Given the description of an element on the screen output the (x, y) to click on. 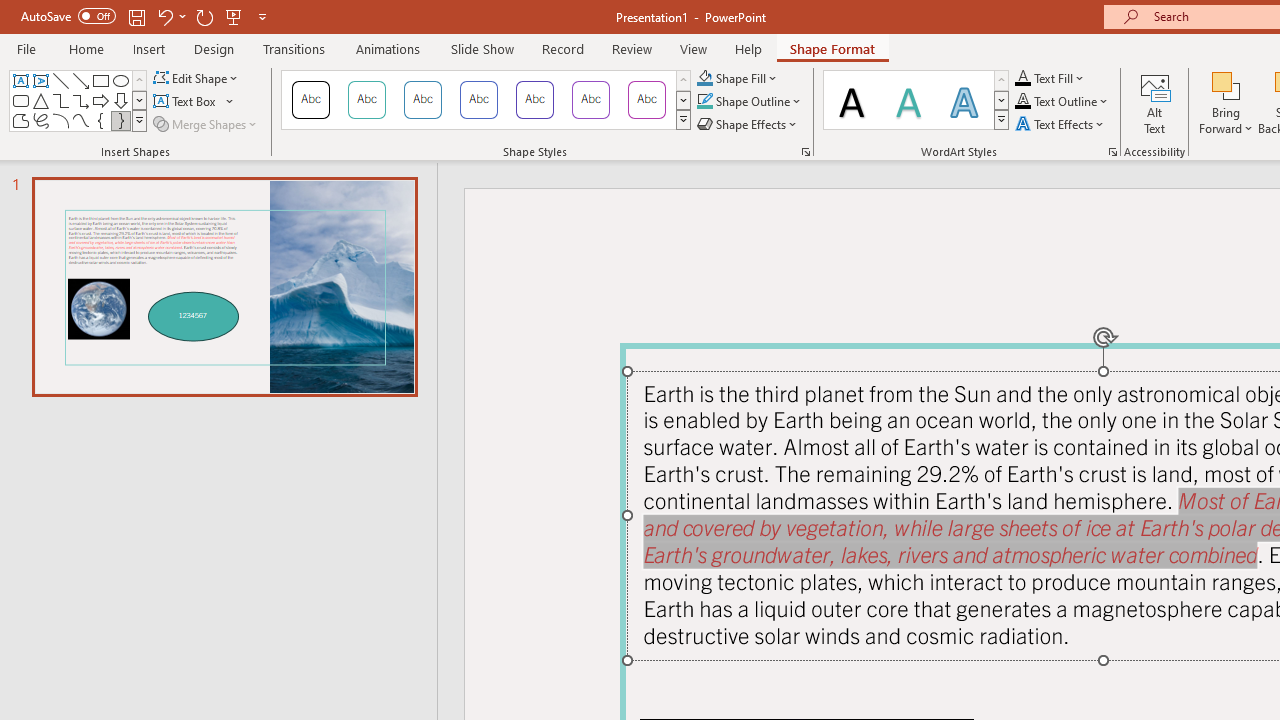
Colored Outline - Blue, Accent 3 (478, 100)
Rectangle: Rounded Corners (20, 100)
Text Effects (1061, 124)
Help (748, 48)
More Options (1225, 121)
View (693, 48)
Text Box (194, 101)
Text Outline (1062, 101)
Freeform: Shape (20, 120)
Shape Fill Aqua, Accent 2 (704, 78)
AutomationID: ShapeStylesGallery (486, 99)
Undo (170, 15)
Row up (1001, 79)
Line Arrow (80, 80)
Draw Horizontal Text Box (185, 101)
